Given the description of an element on the screen output the (x, y) to click on. 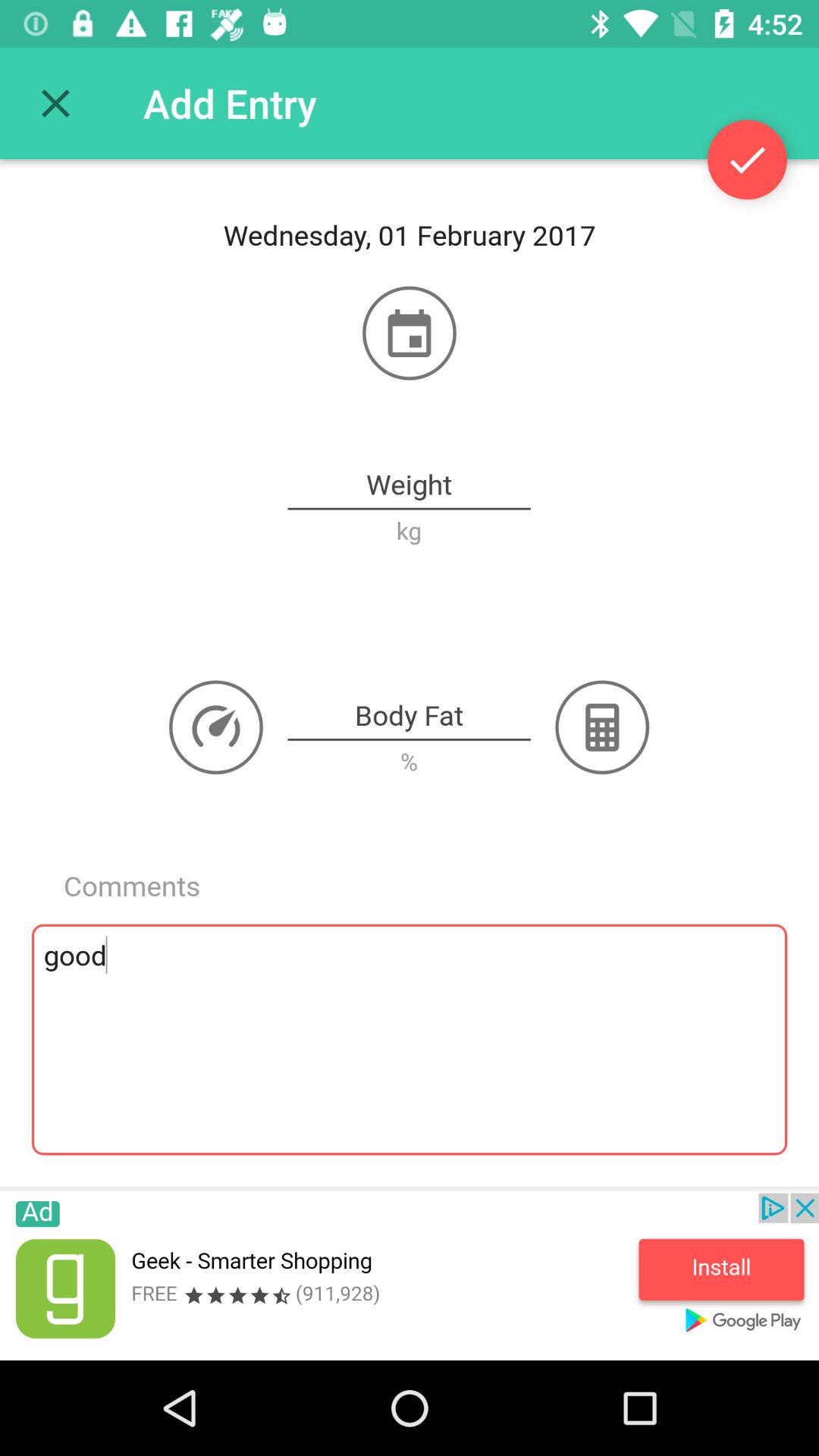
scale option (215, 727)
